Given the description of an element on the screen output the (x, y) to click on. 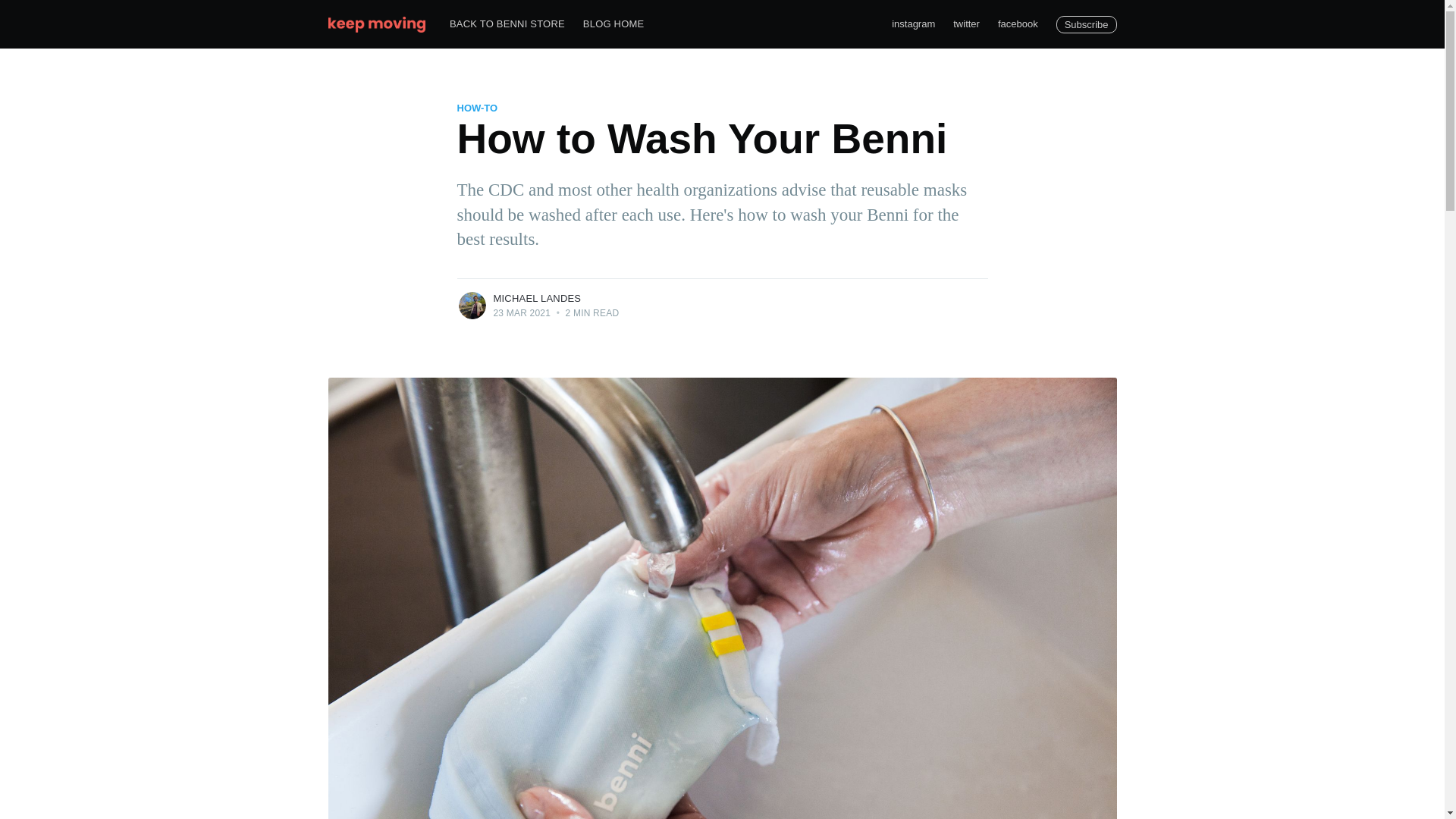
instagram (912, 24)
MICHAEL LANDES (536, 297)
facebook (1017, 24)
BLOG HOME (613, 24)
twitter (965, 24)
HOW-TO (477, 108)
Subscribe (1086, 23)
BACK TO BENNI STORE (507, 24)
